Given the description of an element on the screen output the (x, y) to click on. 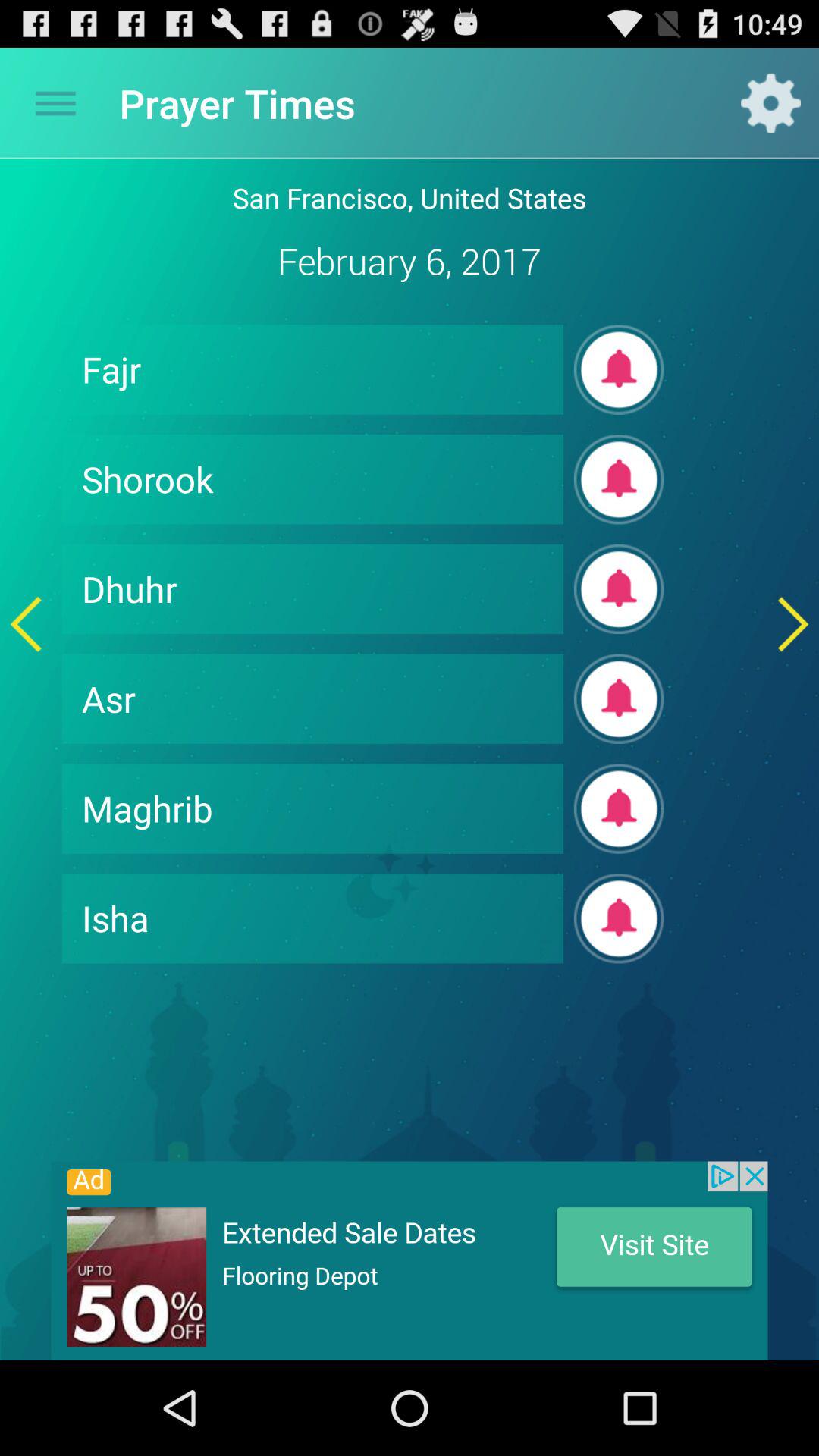
go to next page (793, 624)
